Given the description of an element on the screen output the (x, y) to click on. 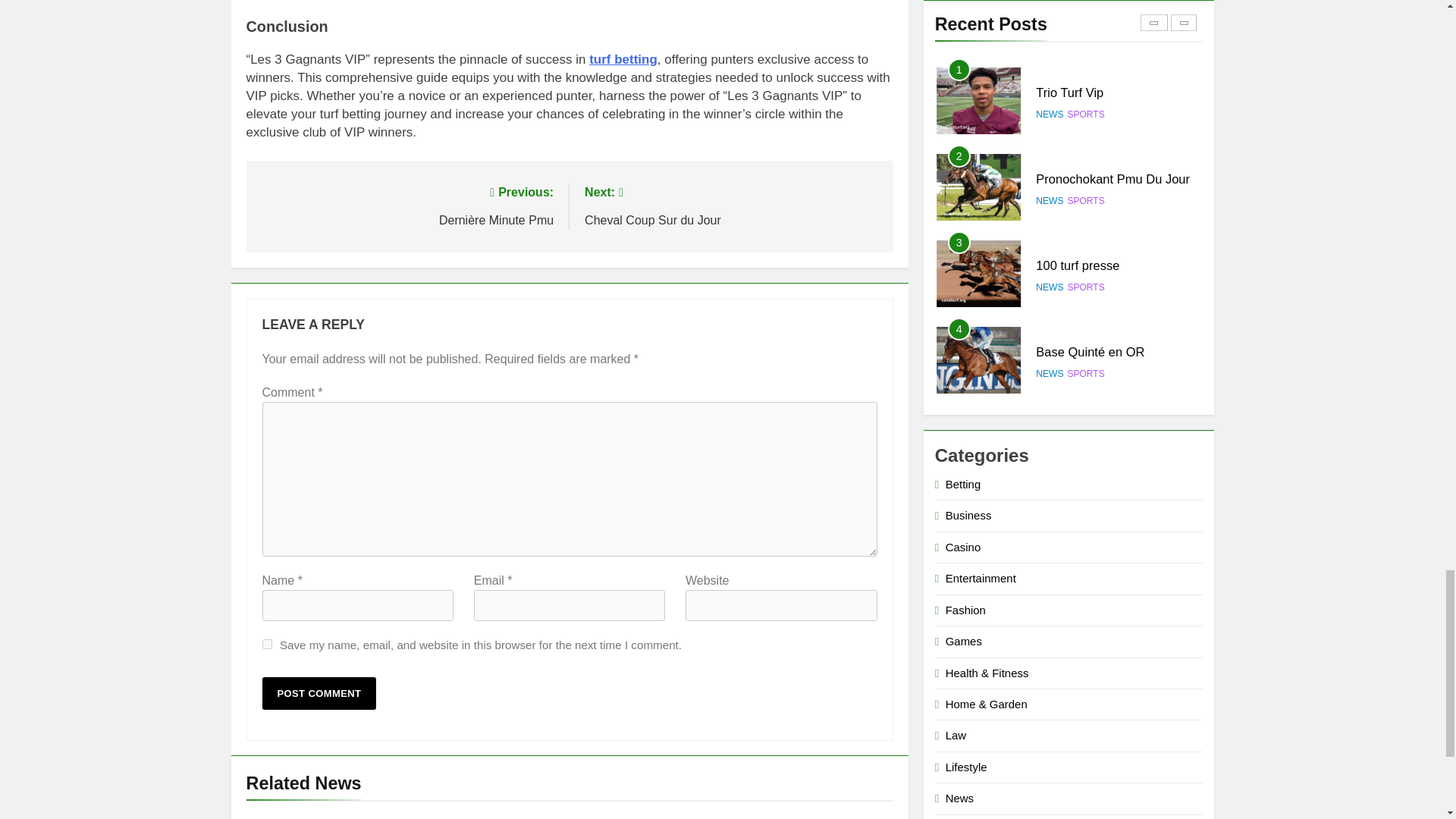
Post Comment (319, 693)
yes (267, 644)
